Given the description of an element on the screen output the (x, y) to click on. 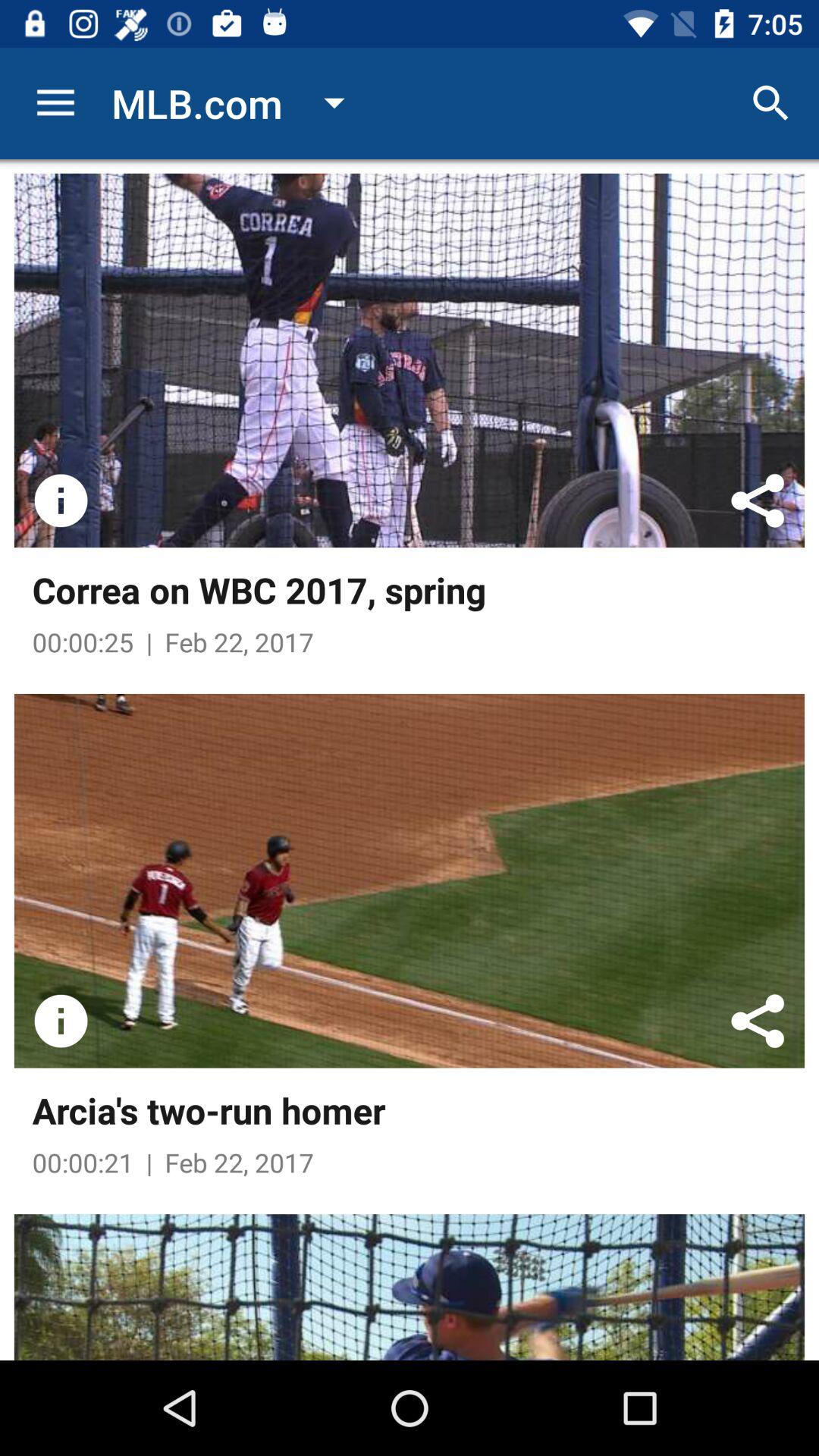
more information (61, 1021)
